Given the description of an element on the screen output the (x, y) to click on. 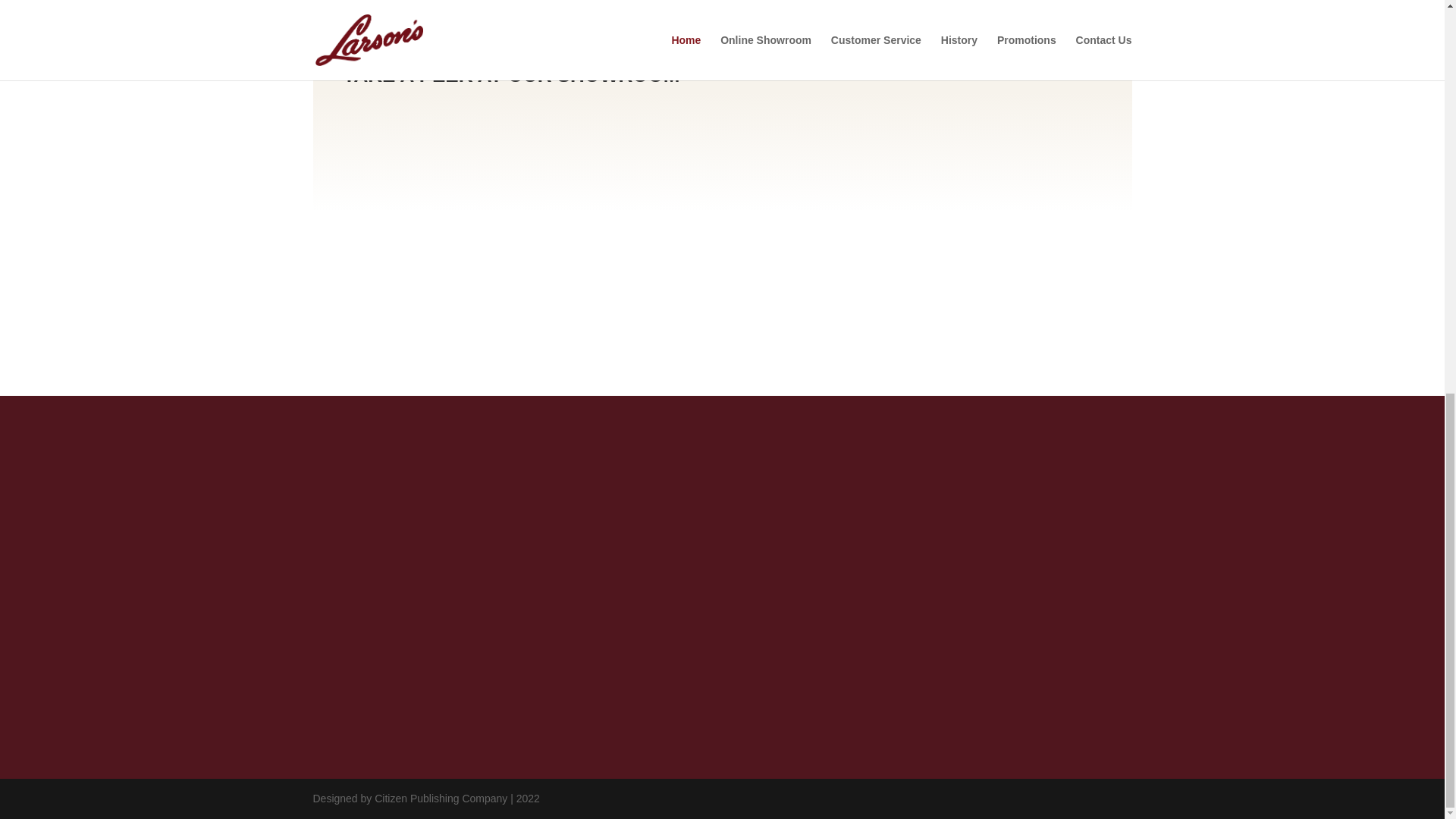
VIEW SHOWROOM (1029, 60)
